Given the description of an element on the screen output the (x, y) to click on. 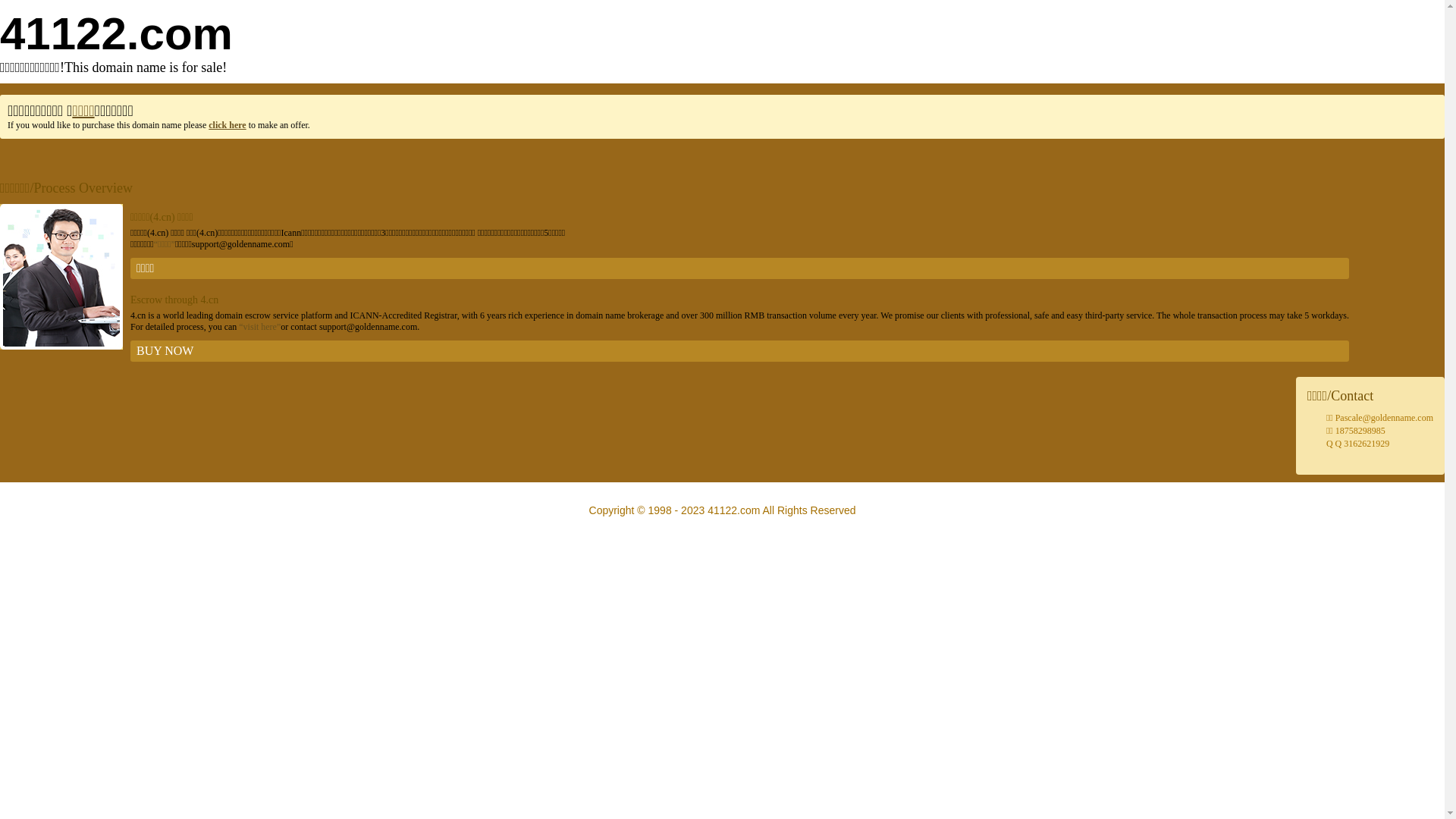
click here Element type: text (226, 124)
BUY NOW Element type: text (739, 350)
